Given the description of an element on the screen output the (x, y) to click on. 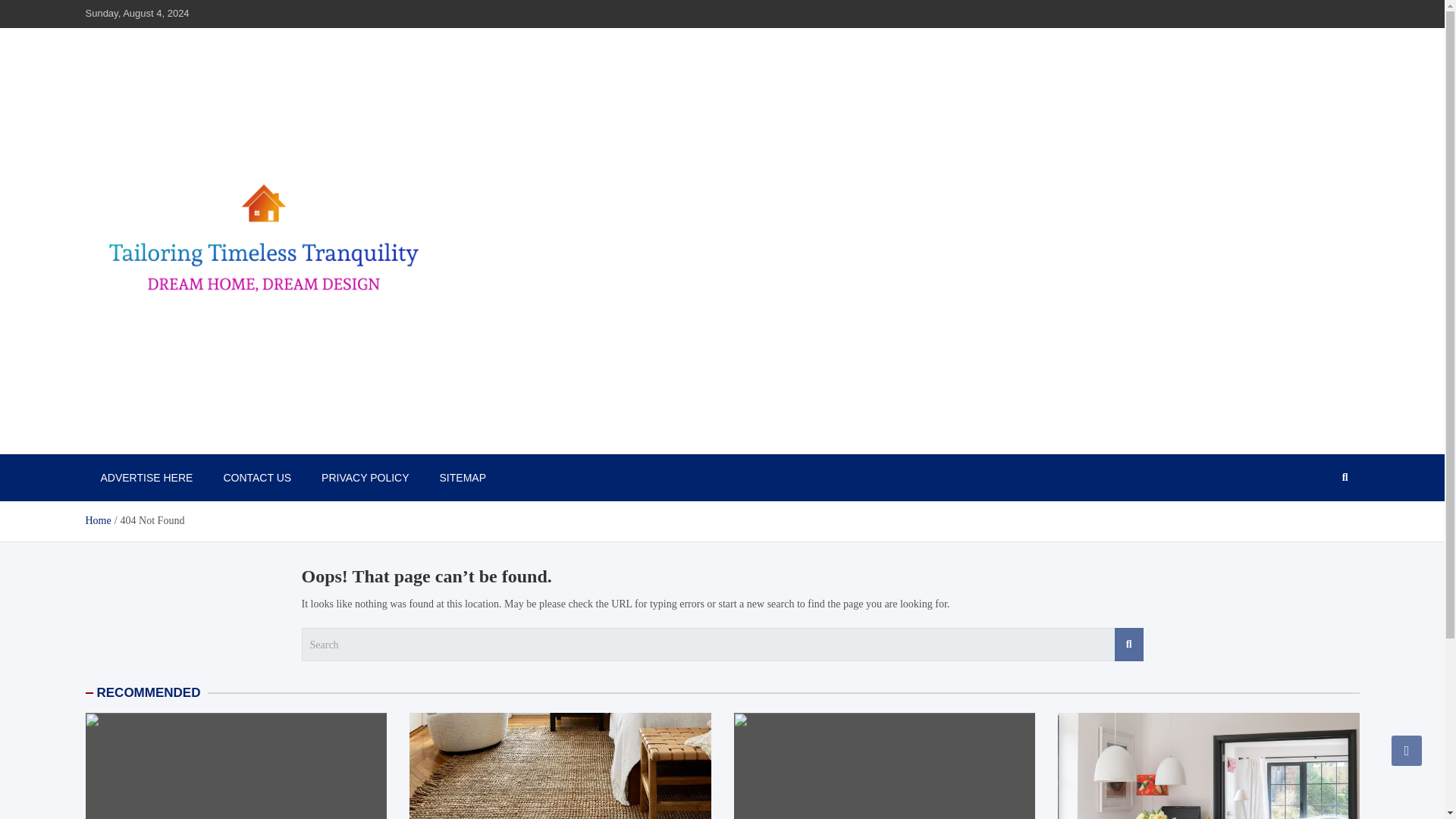
Search (1128, 644)
Tailoring Timeless Tranquility (241, 437)
RECOMMENDED (148, 692)
PRIVACY POLICY (364, 477)
SITEMAP (462, 477)
Home (97, 520)
ADVERTISE HERE (146, 477)
Go to Top (1406, 750)
CONTACT US (256, 477)
